Given the description of an element on the screen output the (x, y) to click on. 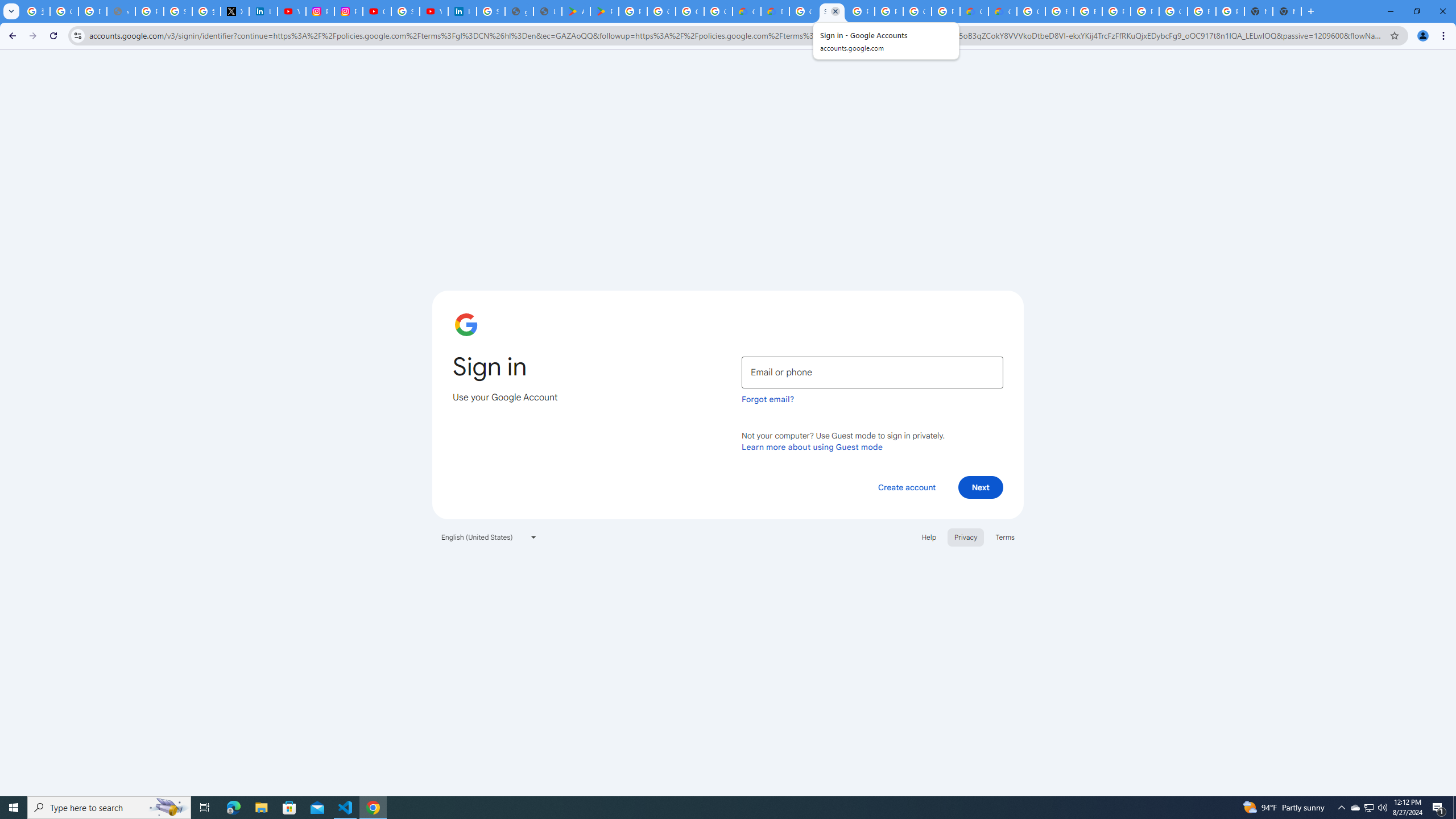
Create account (905, 486)
New Tab (1287, 11)
LinkedIn Privacy Policy (263, 11)
Google Workspace - Specific Terms (690, 11)
